Given the description of an element on the screen output the (x, y) to click on. 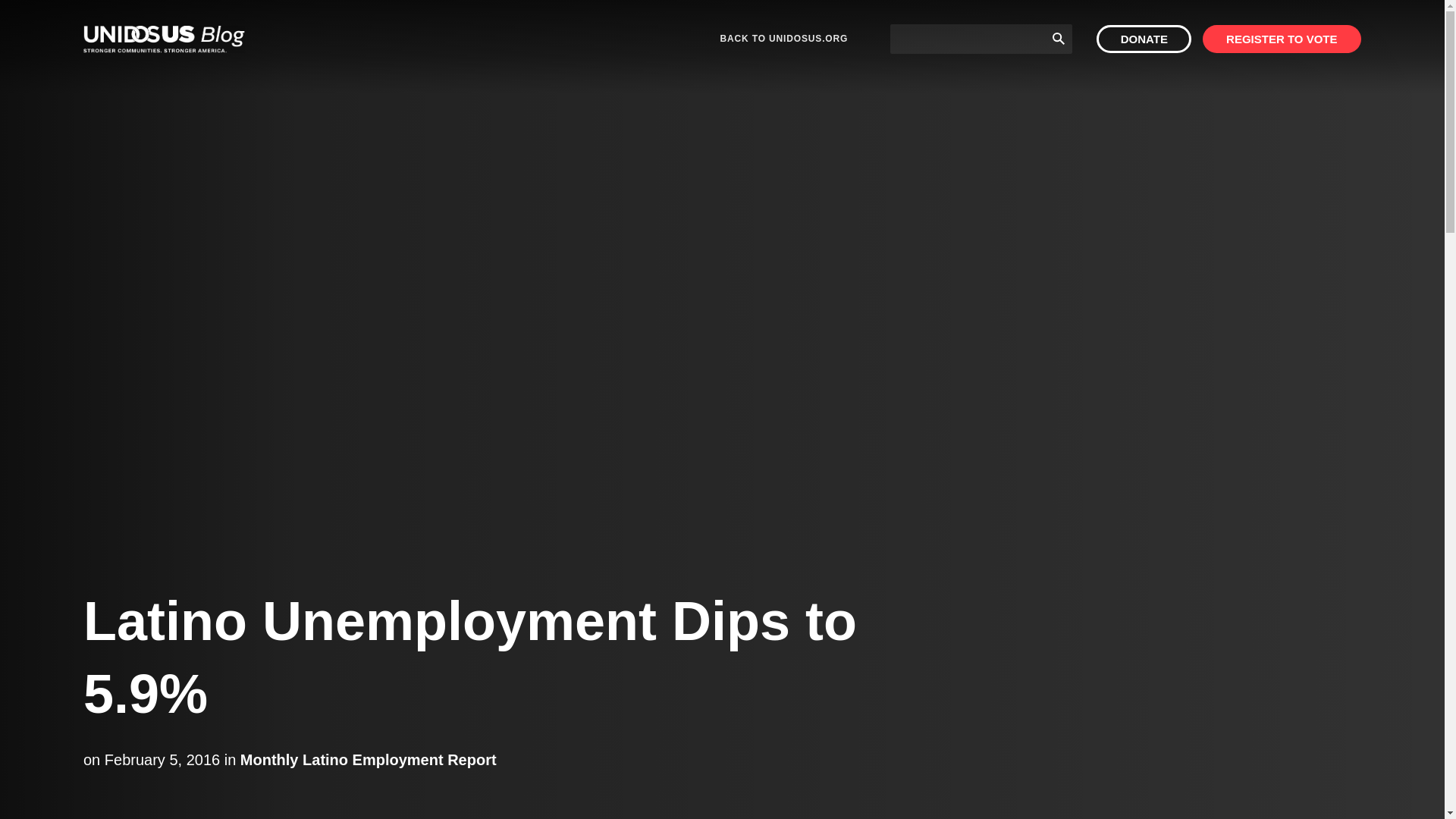
DONATE (1143, 39)
REGISTER TO VOTE (1281, 39)
Submit Search (1058, 37)
BACK TO UNIDOSUS.ORG (784, 39)
Blog (163, 39)
Monthly Latino Employment Report (368, 759)
